Given the description of an element on the screen output the (x, y) to click on. 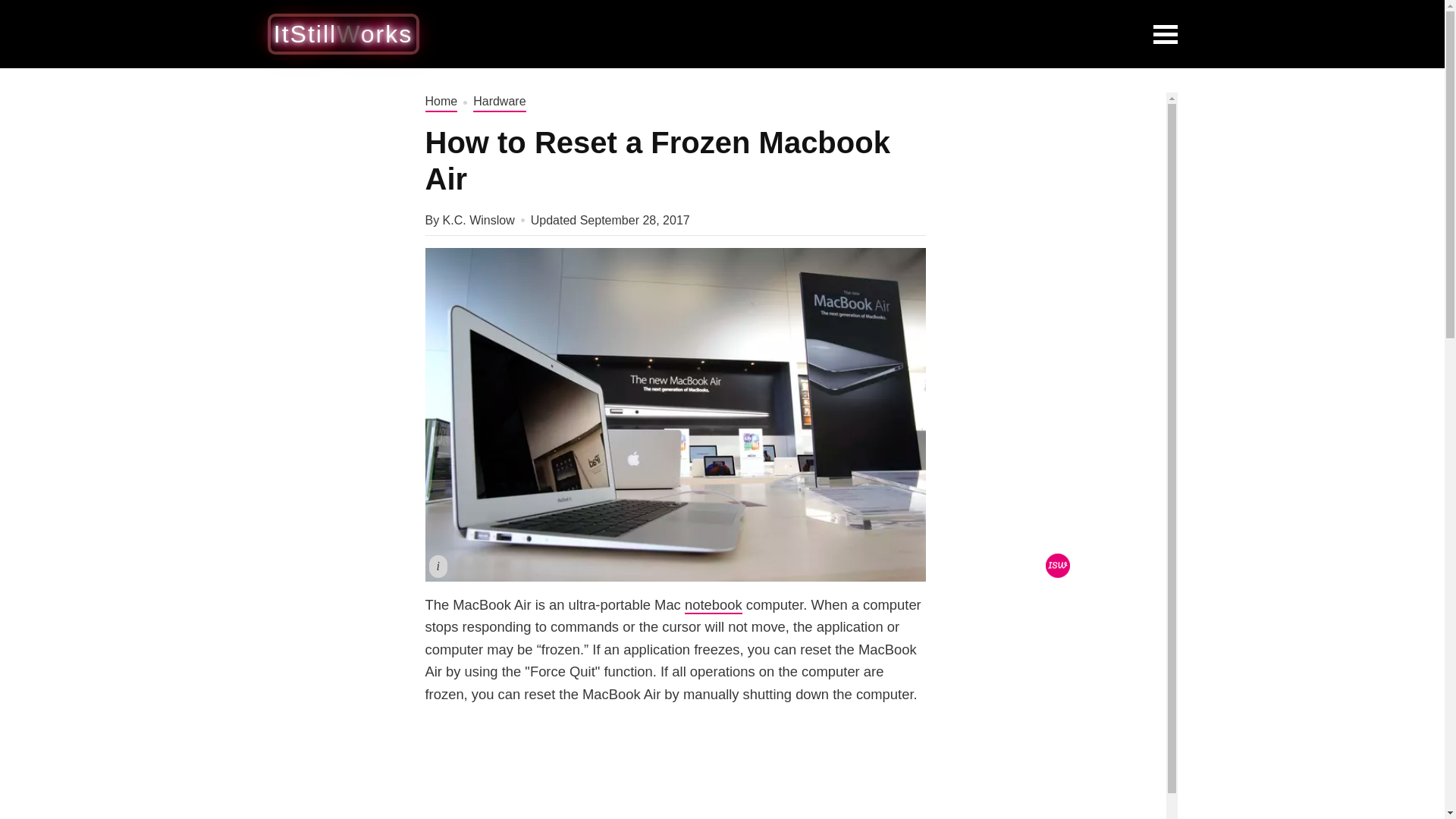
ItStillWorks (342, 33)
Hardware (499, 102)
Home (441, 102)
notebook (713, 605)
